Given the description of an element on the screen output the (x, y) to click on. 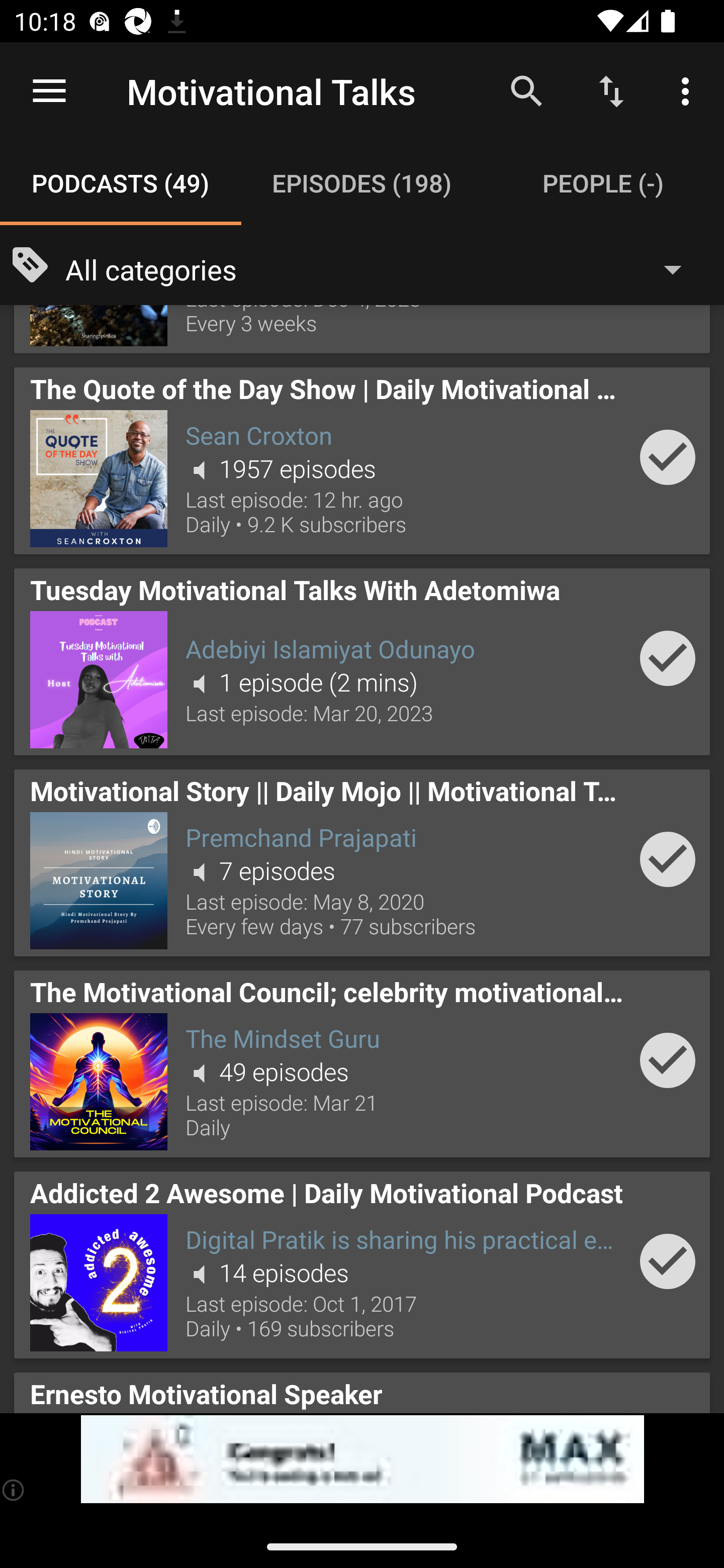
Open navigation sidebar (49, 91)
Search (526, 90)
Sort (611, 90)
More options (688, 90)
Episodes (198) EPISODES (198) (361, 183)
People (-) PEOPLE (-) (603, 183)
All categories (383, 268)
Add (667, 457)
Add (667, 658)
Add (667, 858)
Add (667, 1059)
Add (667, 1261)
app-monetization (362, 1459)
(i) (14, 1489)
